Given the description of an element on the screen output the (x, y) to click on. 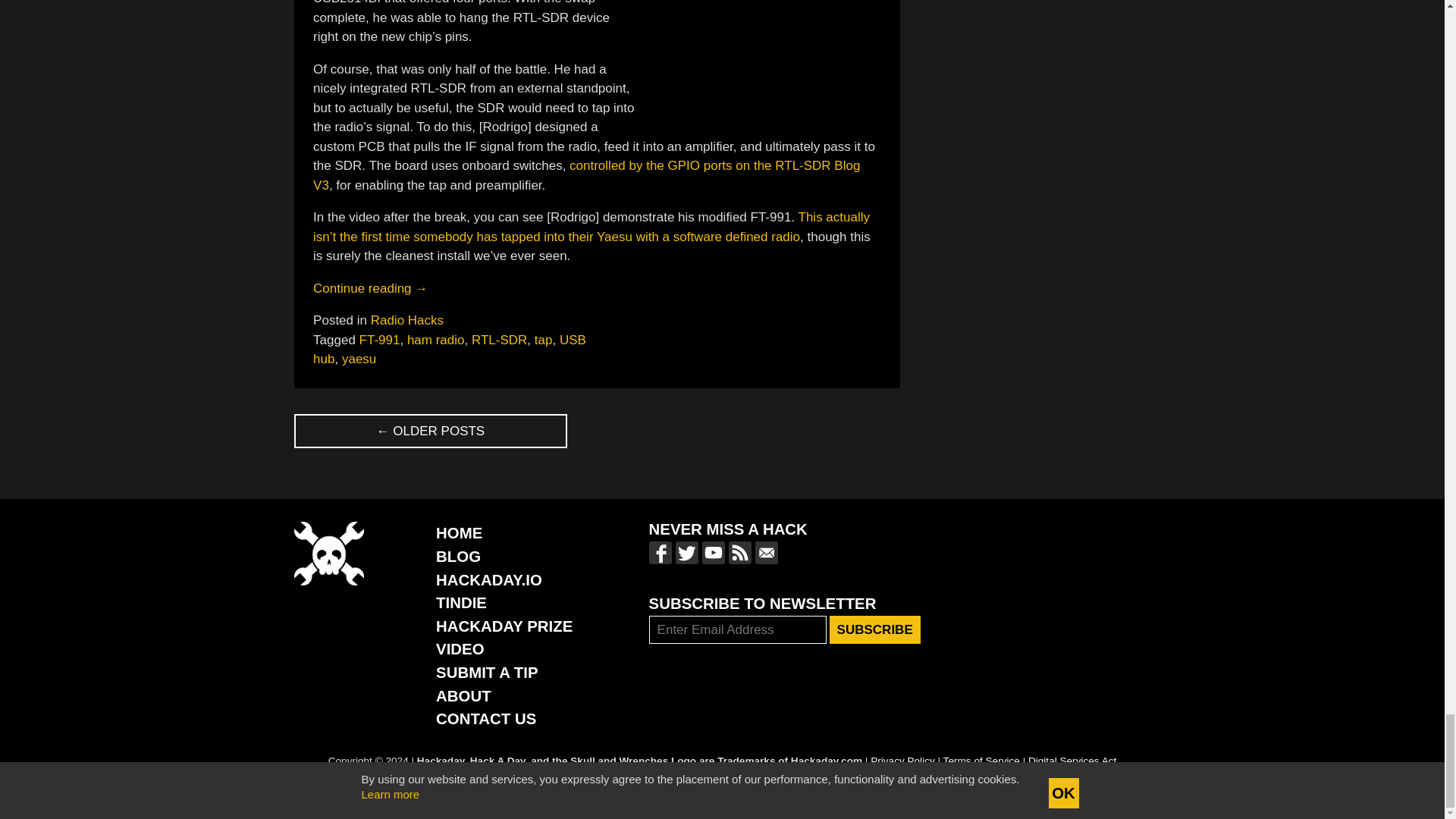
Subscribe (874, 629)
